Given the description of an element on the screen output the (x, y) to click on. 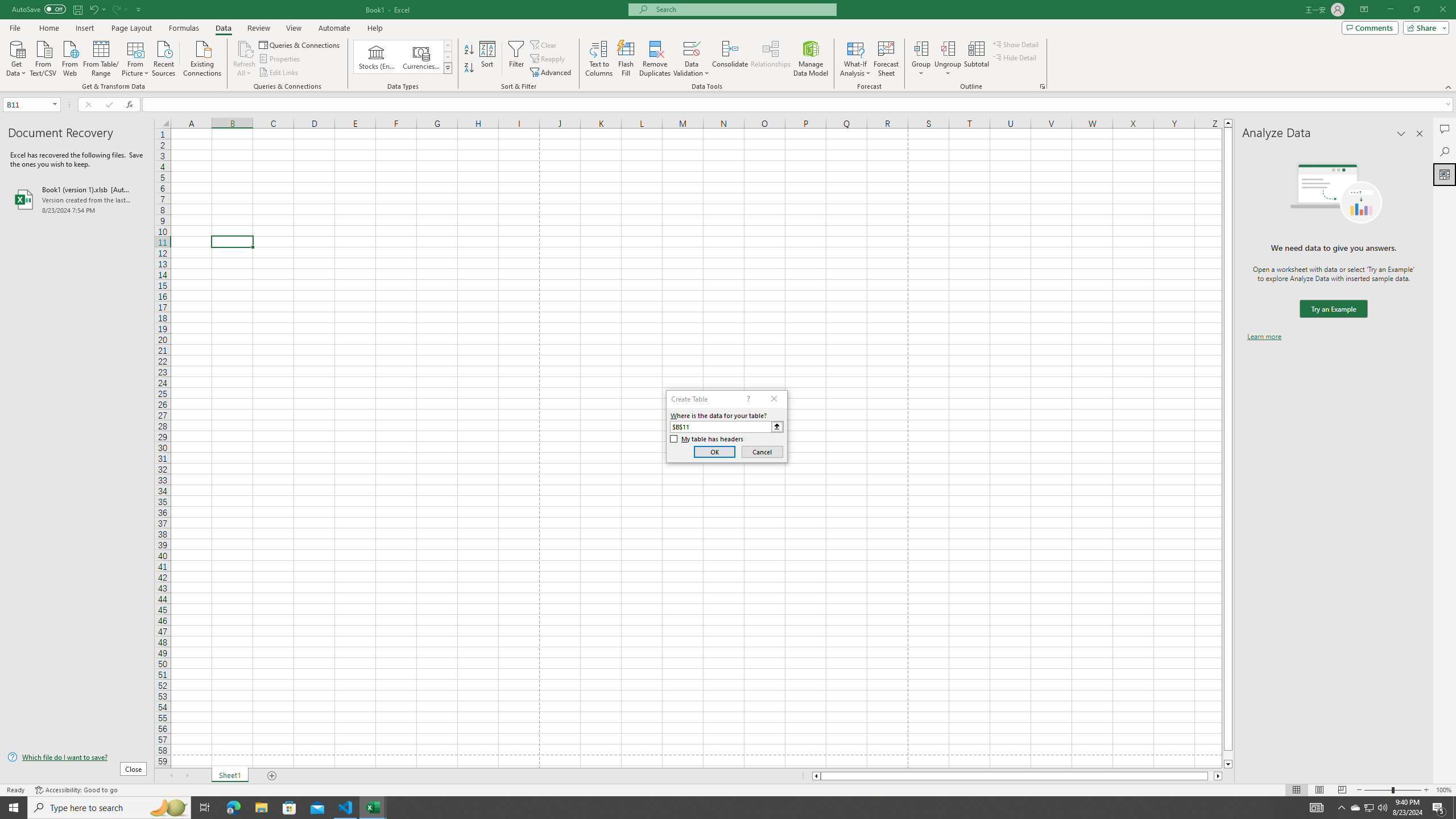
From Table/Range (100, 57)
Relationships (770, 58)
Task Pane Options (1400, 133)
Get Data (16, 57)
Data Types (448, 67)
Row Down (448, 56)
What-If Analysis (855, 58)
Subtotal (976, 58)
Book1 (version 1).xlsb  [AutoRecovered] (77, 199)
